Given the description of an element on the screen output the (x, y) to click on. 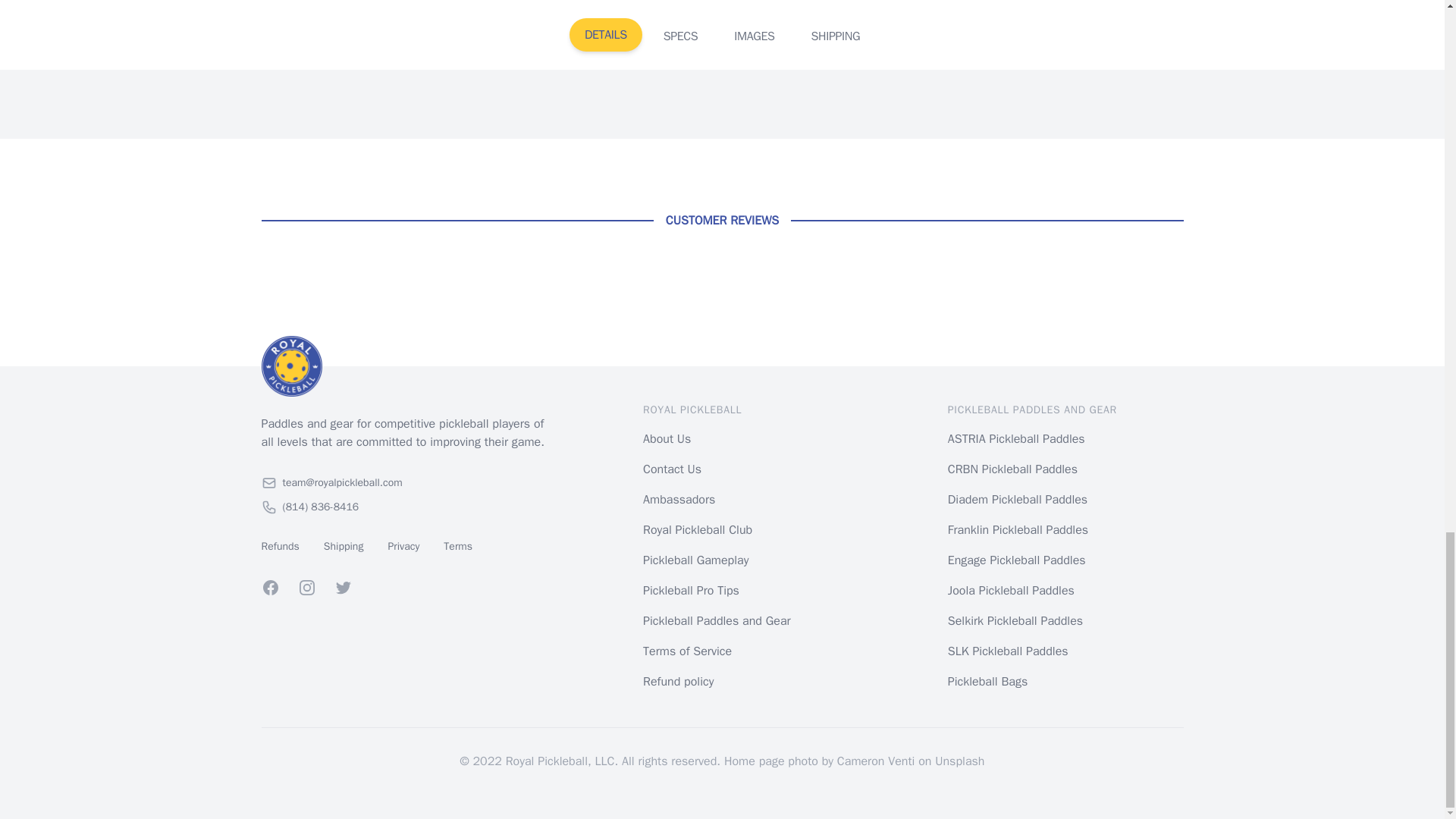
Terms (457, 546)
Refunds (279, 546)
Facebook (269, 587)
Privacy (403, 546)
Shipping (343, 546)
Royal Pickleball (405, 365)
